Given the description of an element on the screen output the (x, y) to click on. 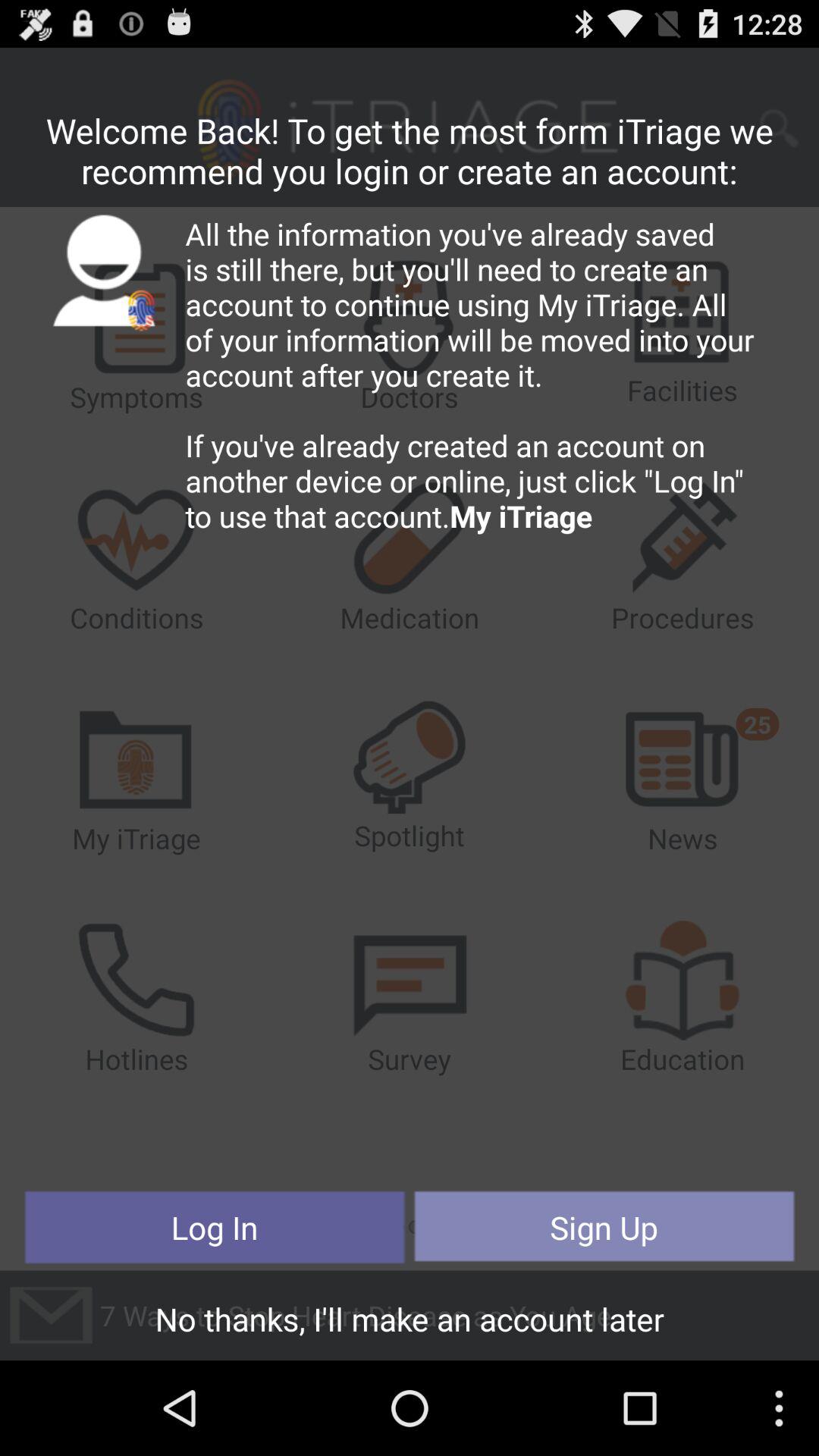
jump to the sign up item (604, 1227)
